Given the description of an element on the screen output the (x, y) to click on. 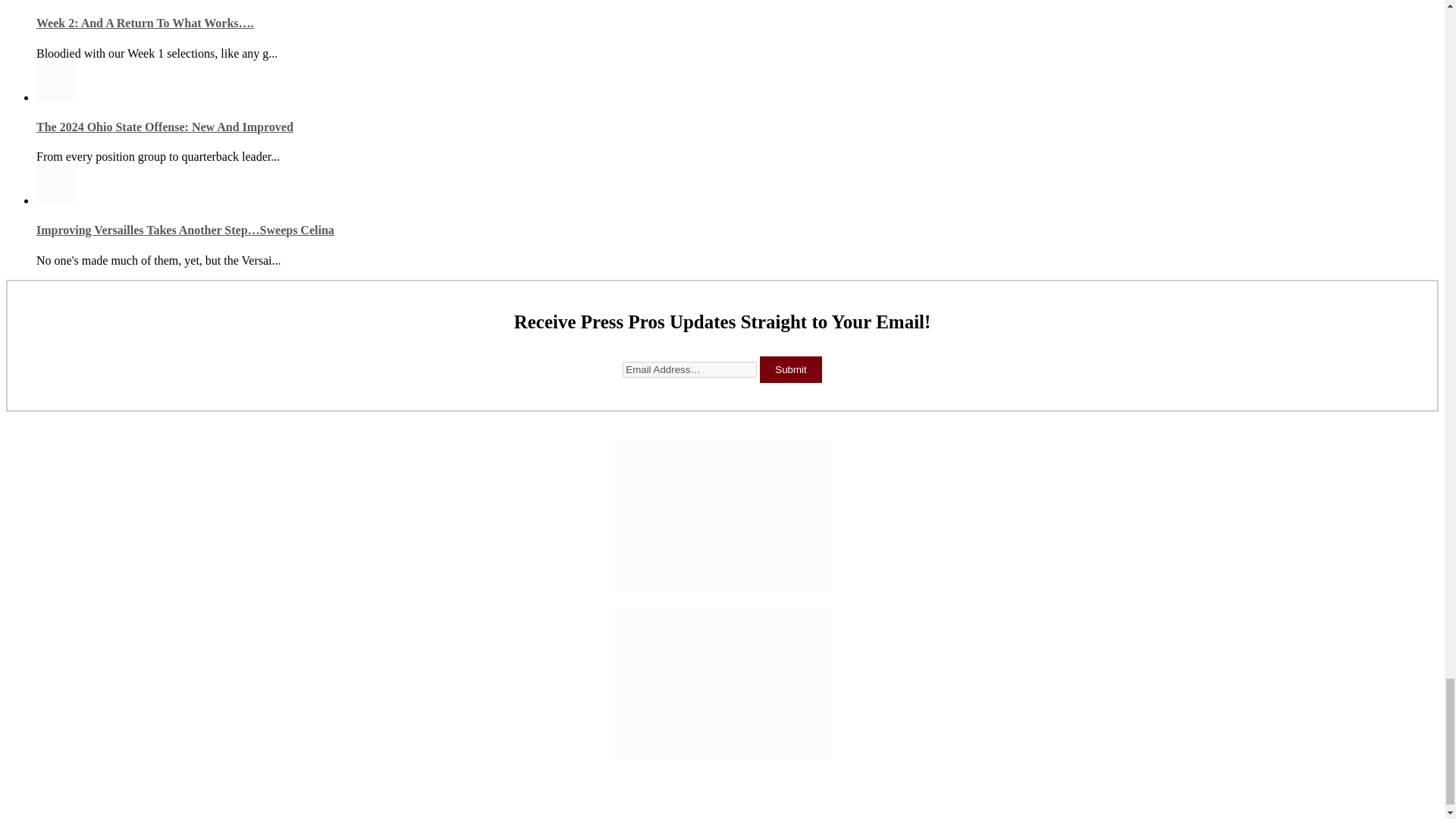
Submit (790, 369)
The 2024 Ohio State Offense: New And Improved (165, 126)
The 2024 Ohio State Offense: New And Improved (165, 126)
Submit (790, 369)
